Given the description of an element on the screen output the (x, y) to click on. 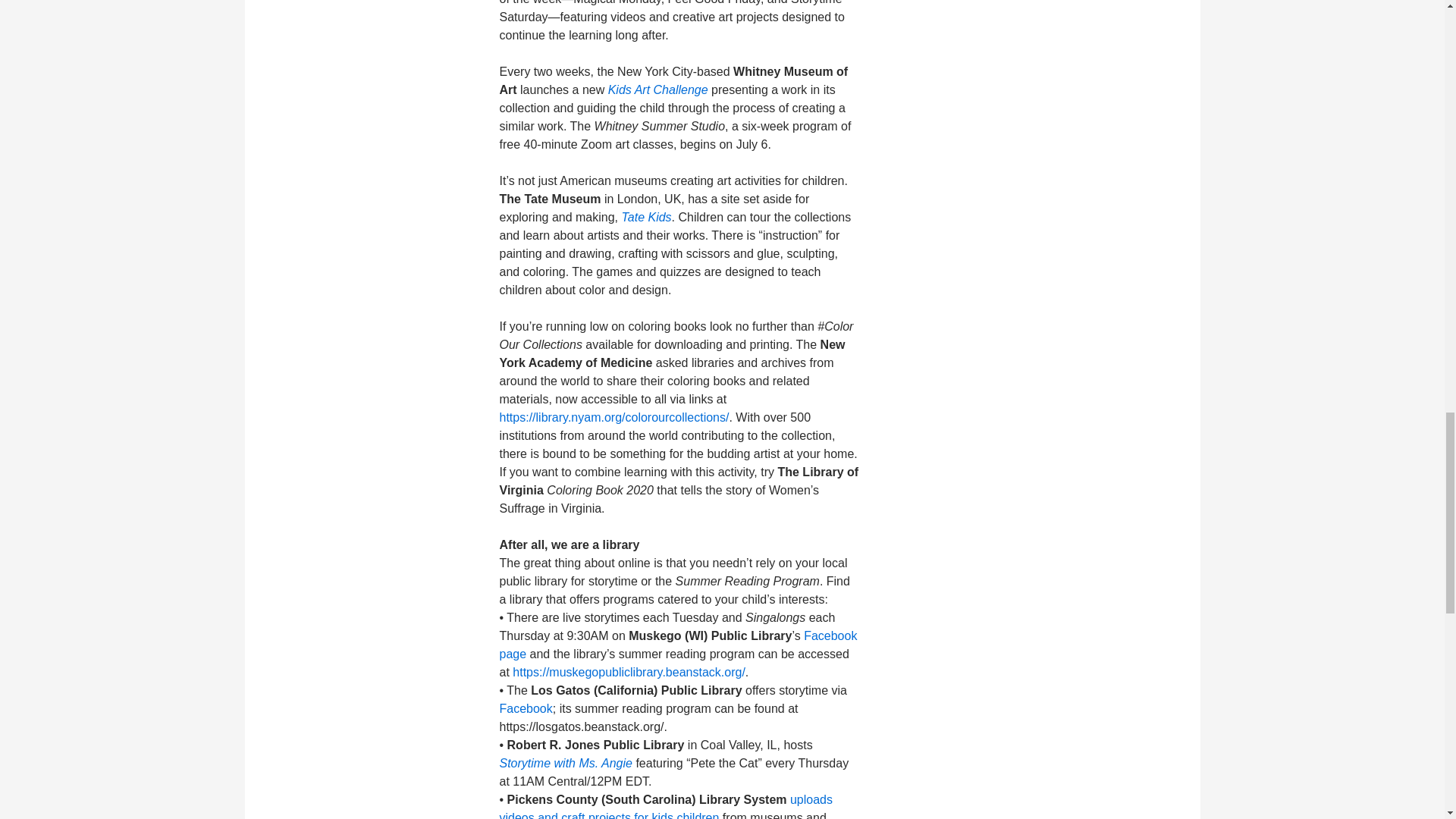
Storytime with Ms. Angie (565, 762)
uploads videos and craft projects for kids children (665, 806)
Facebook page (678, 644)
Facebook (525, 707)
Kids Art Challenge (657, 89)
Tate Kids (646, 216)
